Given the description of an element on the screen output the (x, y) to click on. 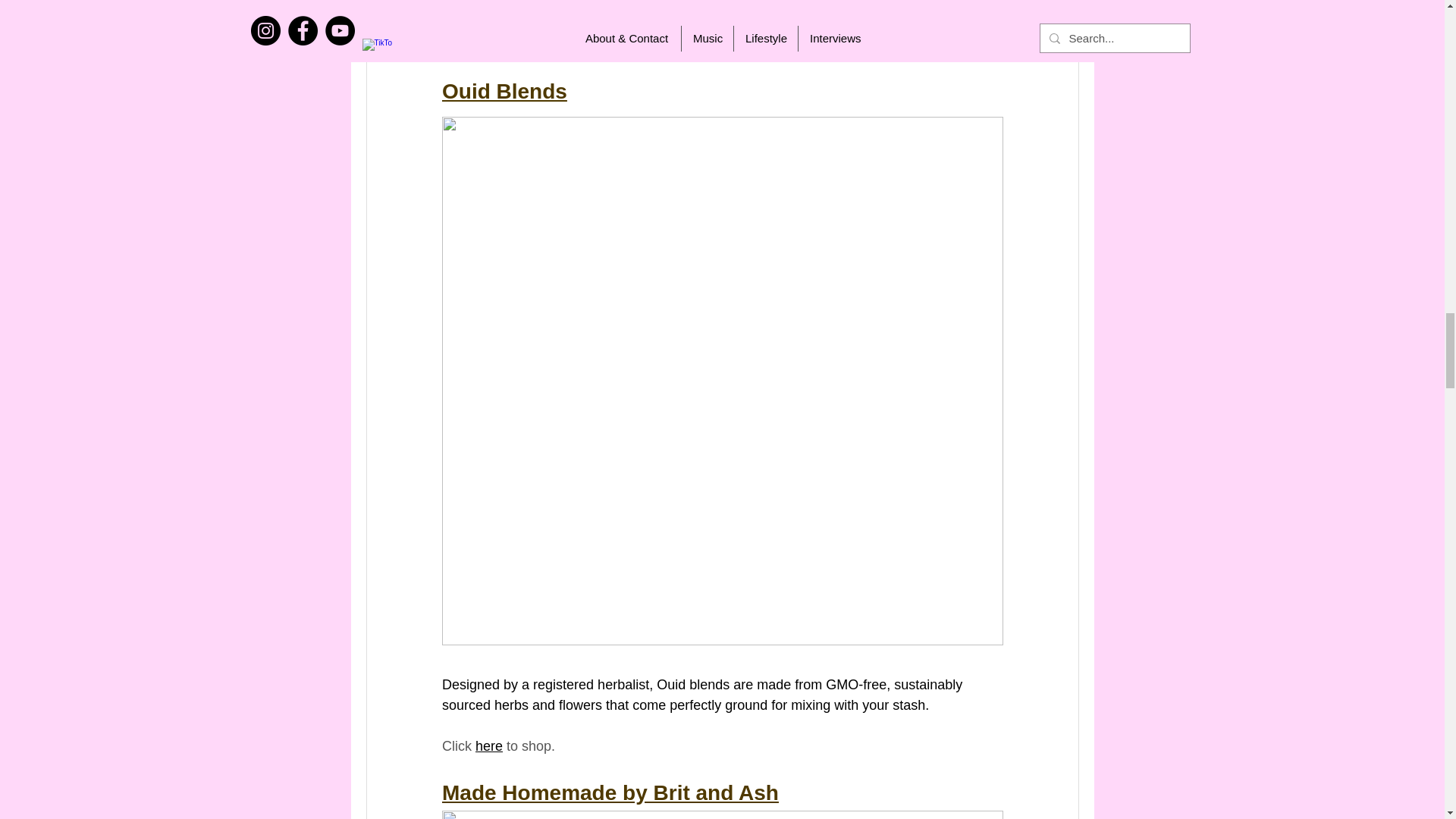
shop. (537, 32)
here (488, 745)
